Given the description of an element on the screen output the (x, y) to click on. 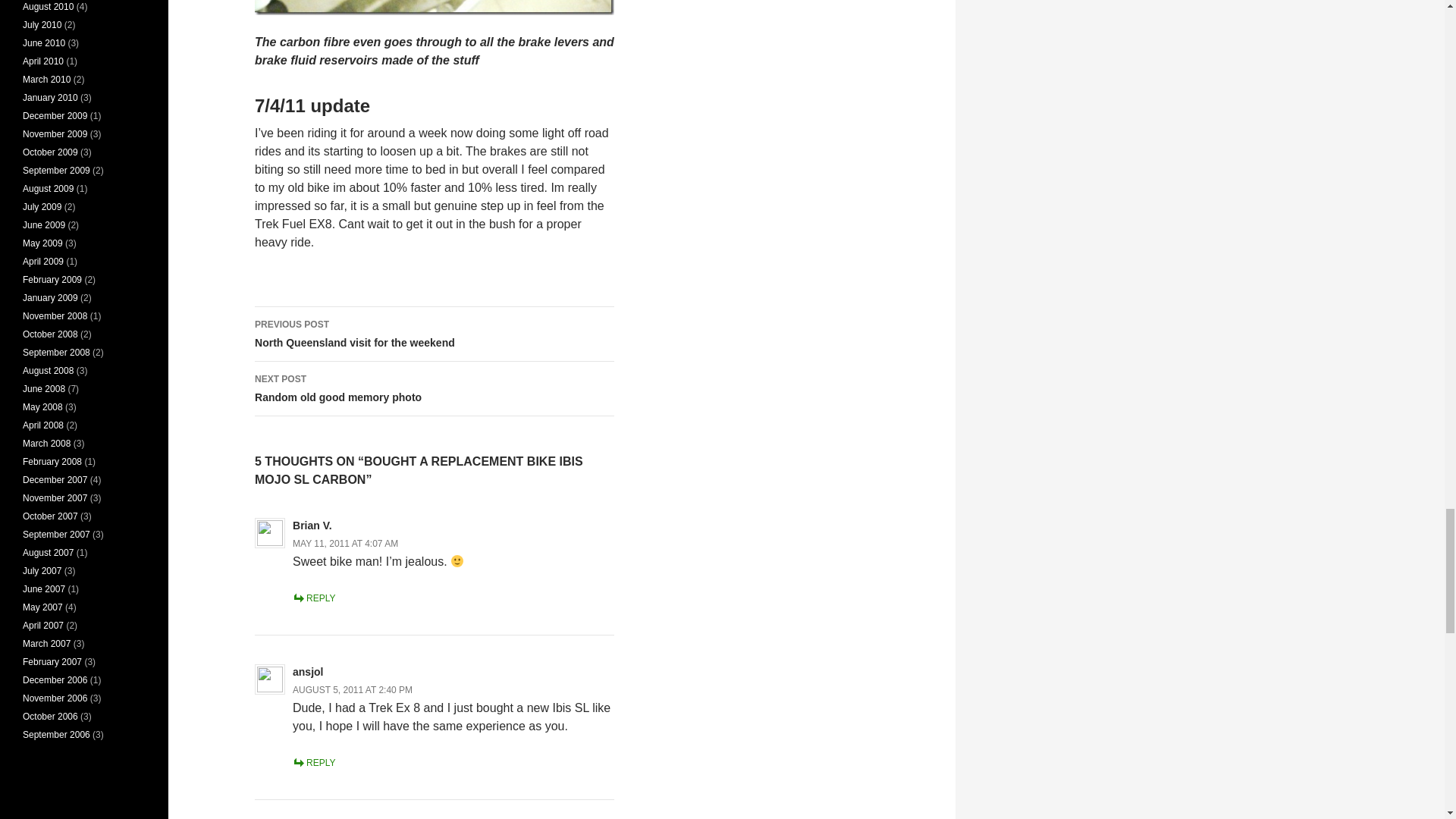
REPLY (313, 597)
AUGUST 5, 2011 AT 2:40 PM (352, 689)
REPLY (434, 388)
MAY 11, 2011 AT 4:07 AM (313, 762)
Brian V. (344, 543)
